Given the description of an element on the screen output the (x, y) to click on. 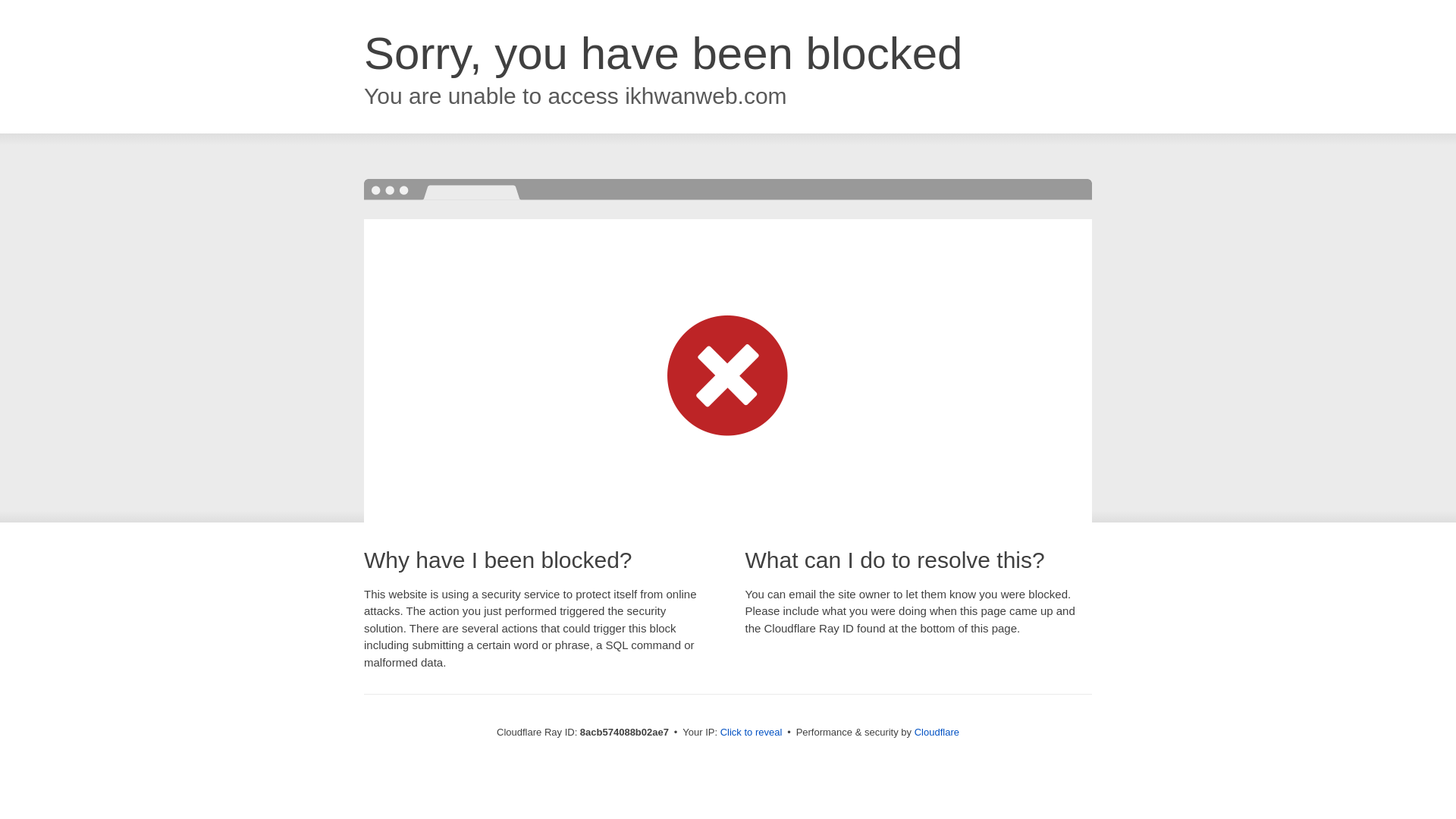
Cloudflare (936, 731)
Click to reveal (751, 732)
